Given the description of an element on the screen output the (x, y) to click on. 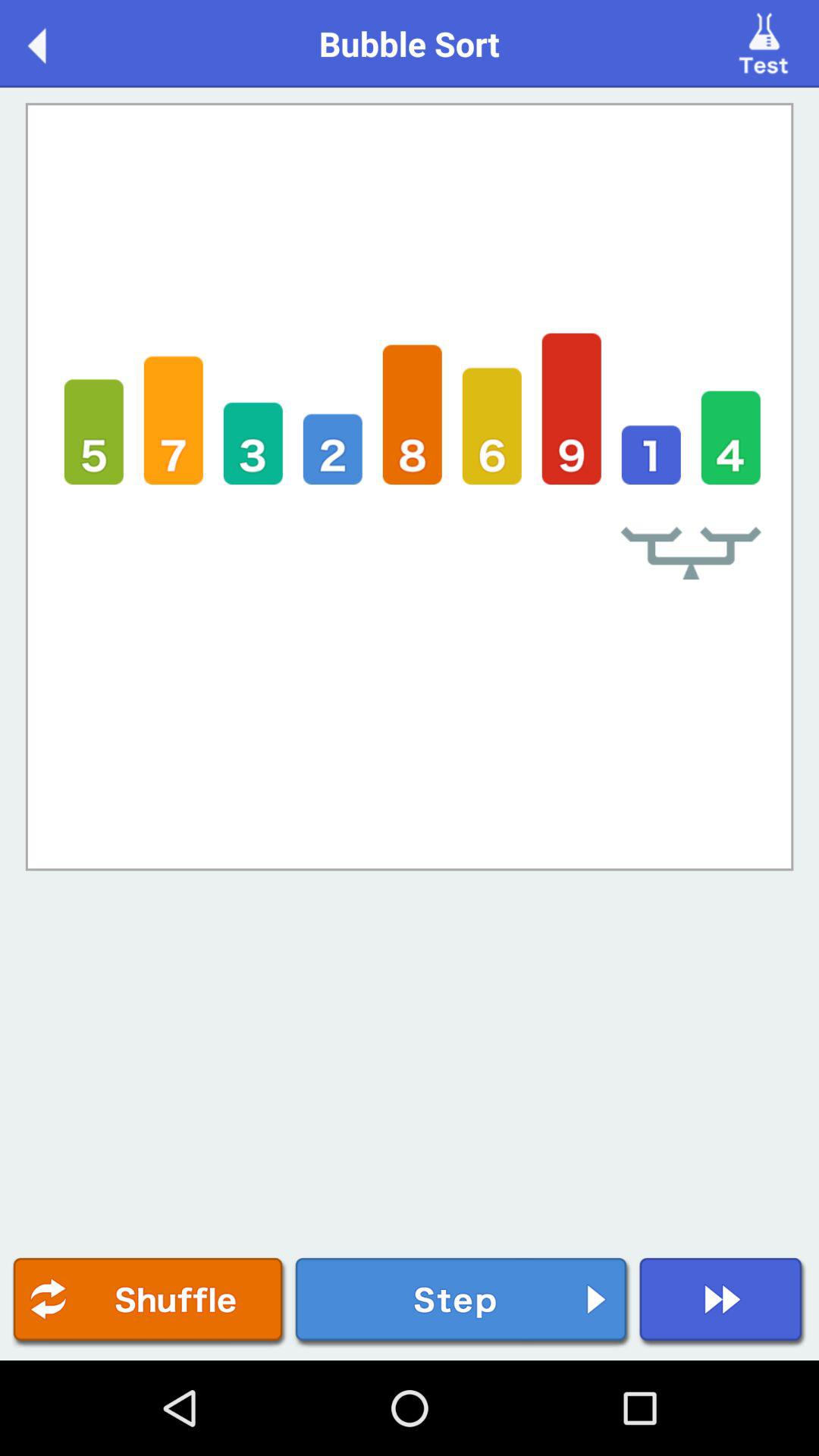
click for step (462, 1302)
